Given the description of an element on the screen output the (x, y) to click on. 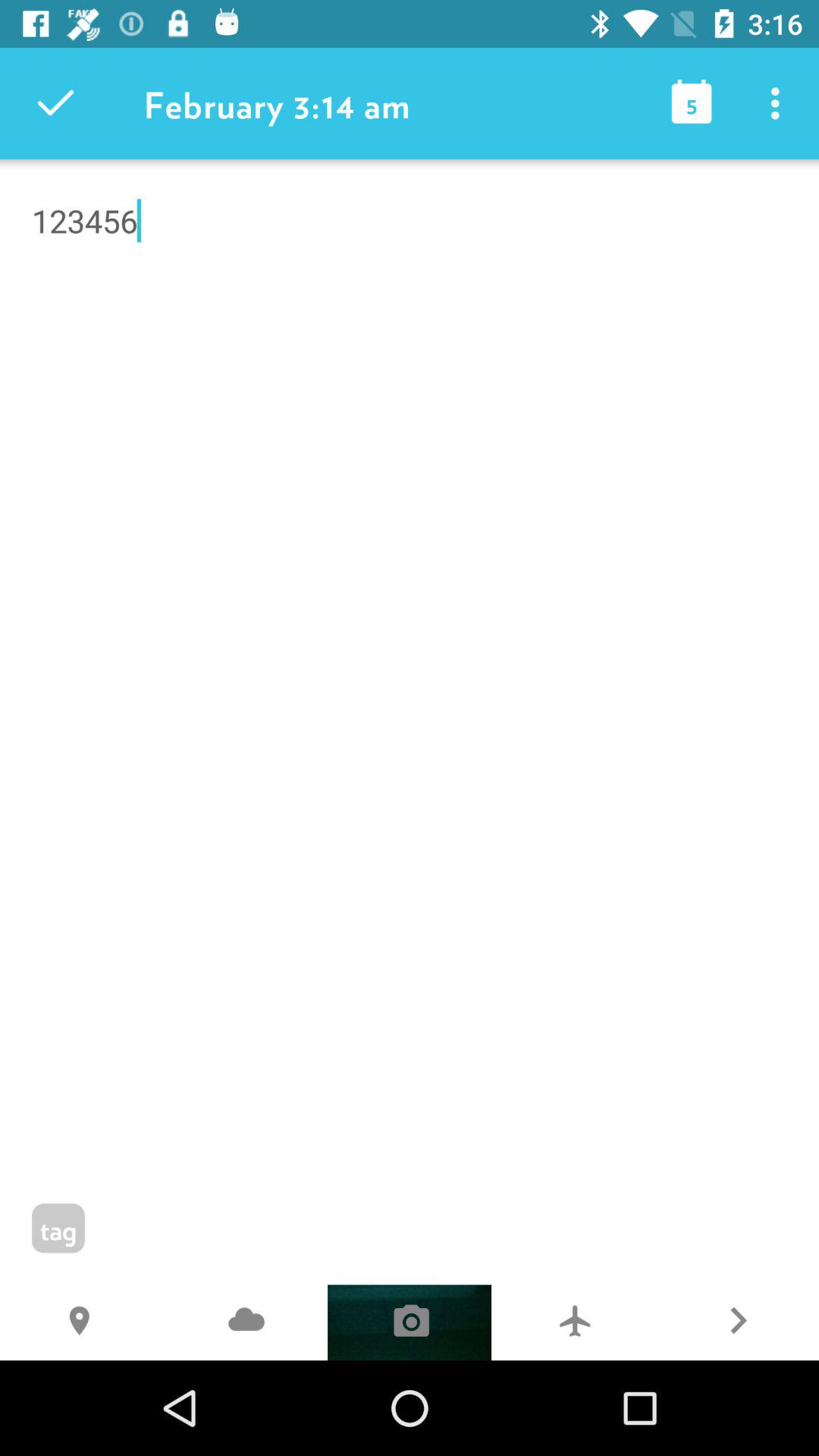
choose the item to the right of the february 3 14 icon (691, 103)
